Given the description of an element on the screen output the (x, y) to click on. 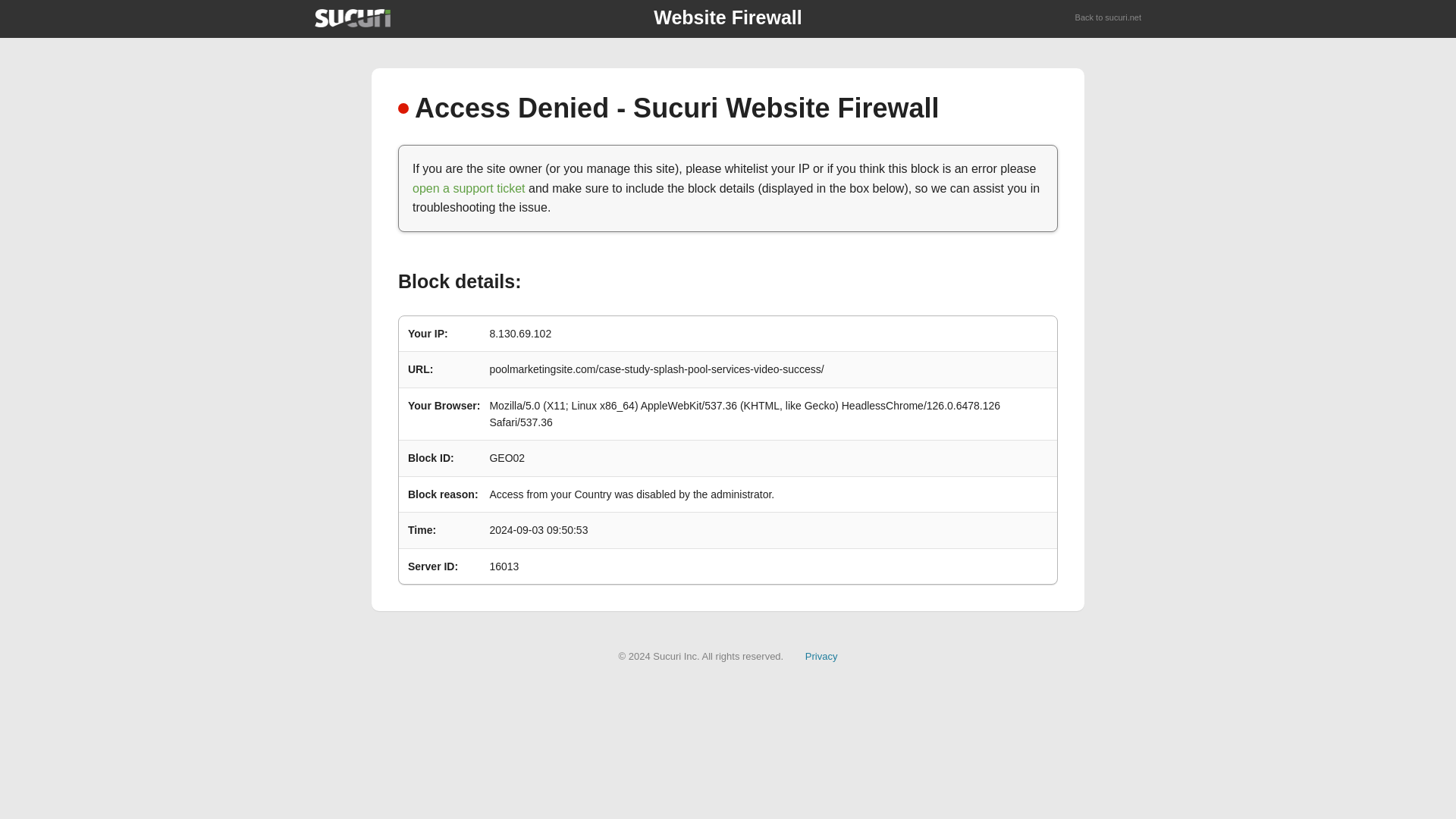
Back to sucuri.net (1108, 18)
Privacy (821, 655)
open a support ticket (468, 187)
